Given the description of an element on the screen output the (x, y) to click on. 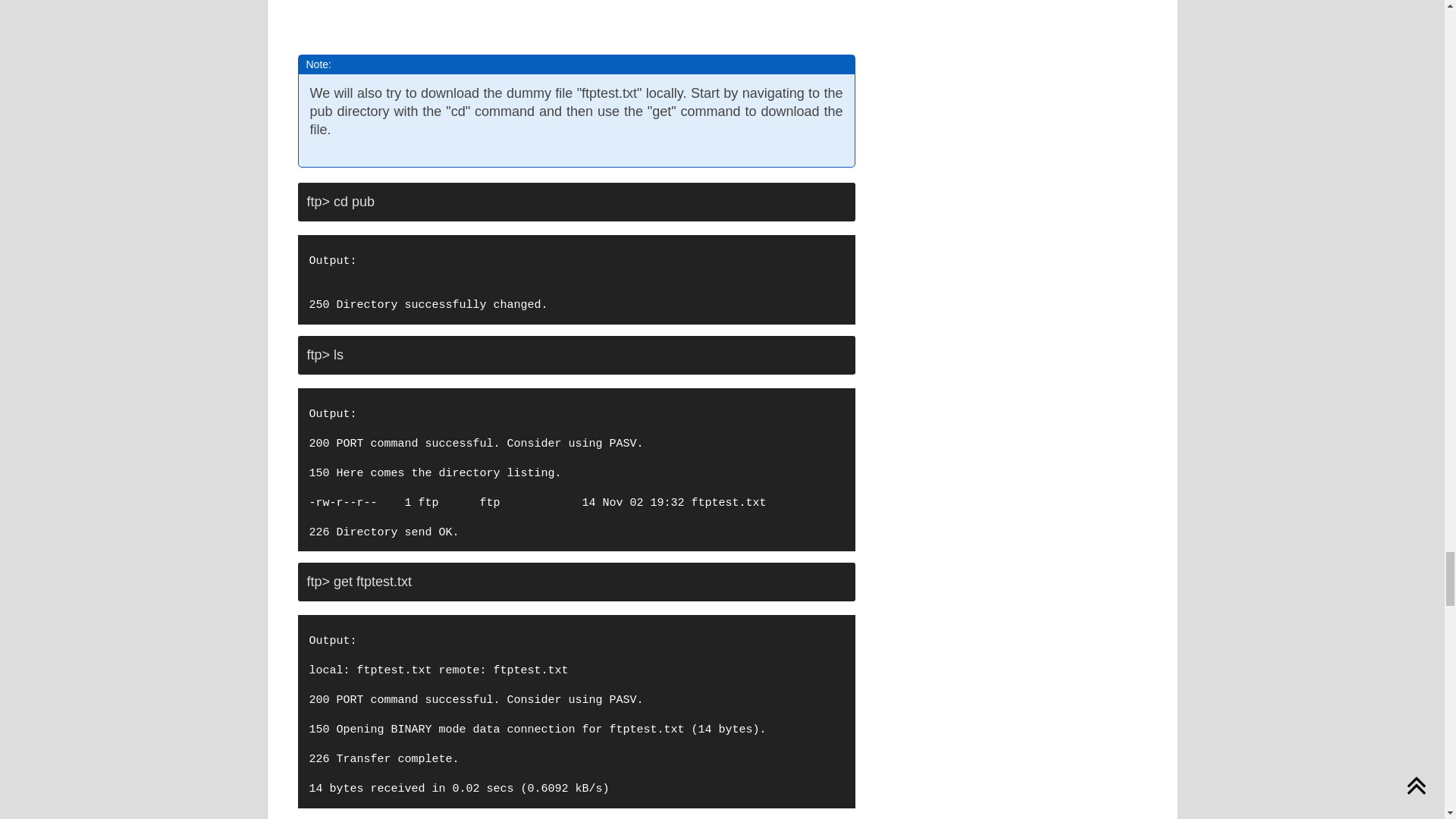
How to Set up Anonymous FTP in Rocky Linux 8.4 10 (538, 13)
